Given the description of an element on the screen output the (x, y) to click on. 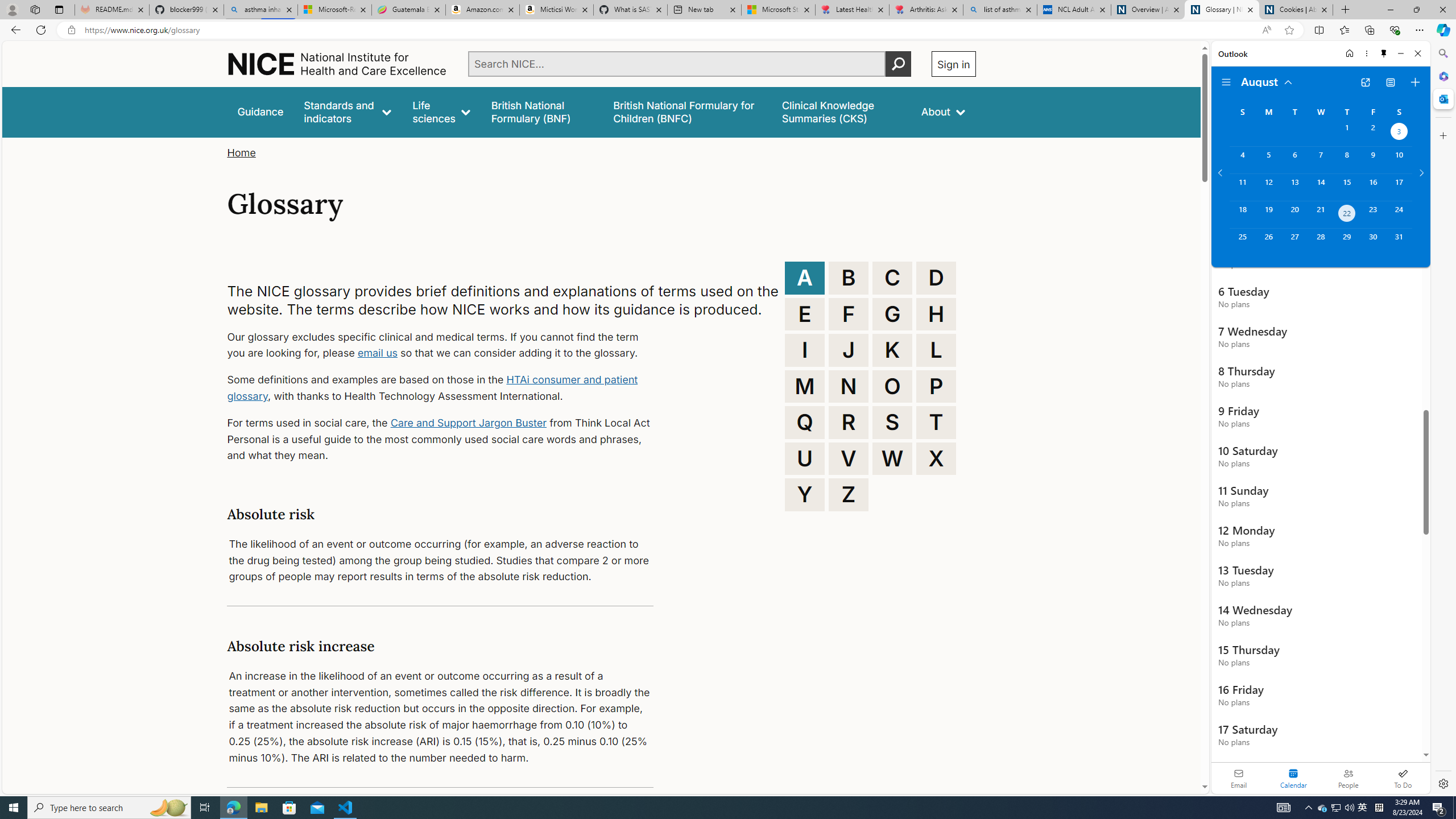
Tuesday, August 13, 2024.  (1294, 186)
A (804, 277)
B (848, 277)
U (804, 458)
August (1267, 80)
Wednesday, August 28, 2024.  (1320, 241)
Saturday, August 10, 2024.  (1399, 159)
O (892, 385)
